Given the description of an element on the screen output the (x, y) to click on. 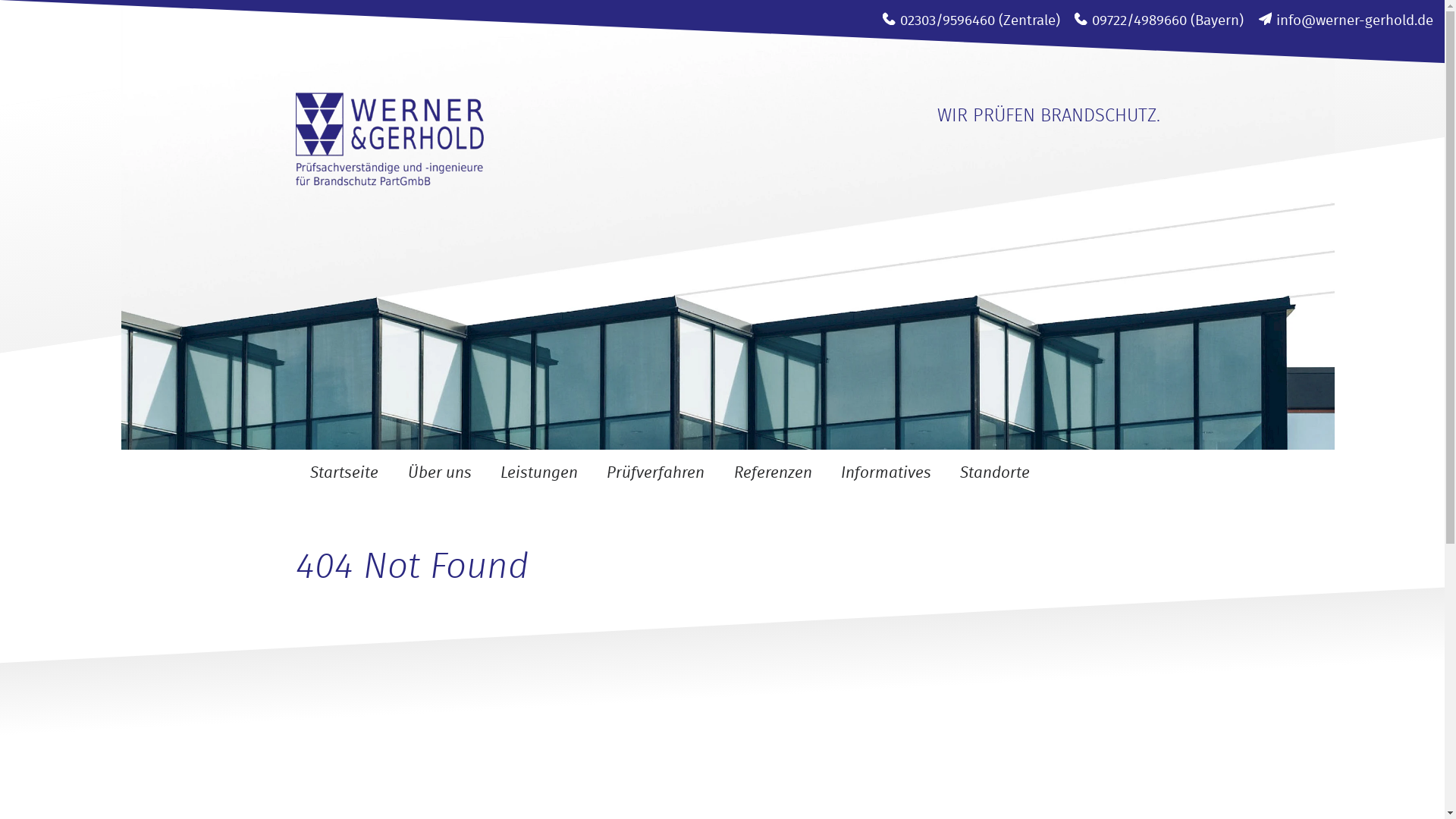
Standorte Element type: text (994, 472)
Leistungen Element type: text (539, 472)
Informatives Element type: text (885, 472)
02303/9596460 (Zentrale) Element type: text (980, 20)
Startseite Element type: text (343, 472)
info@werner-gerhold.de Element type: text (1354, 20)
Referenzen Element type: text (771, 472)
09722/4989660 (Bayern) Element type: text (1167, 20)
